Given the description of an element on the screen output the (x, y) to click on. 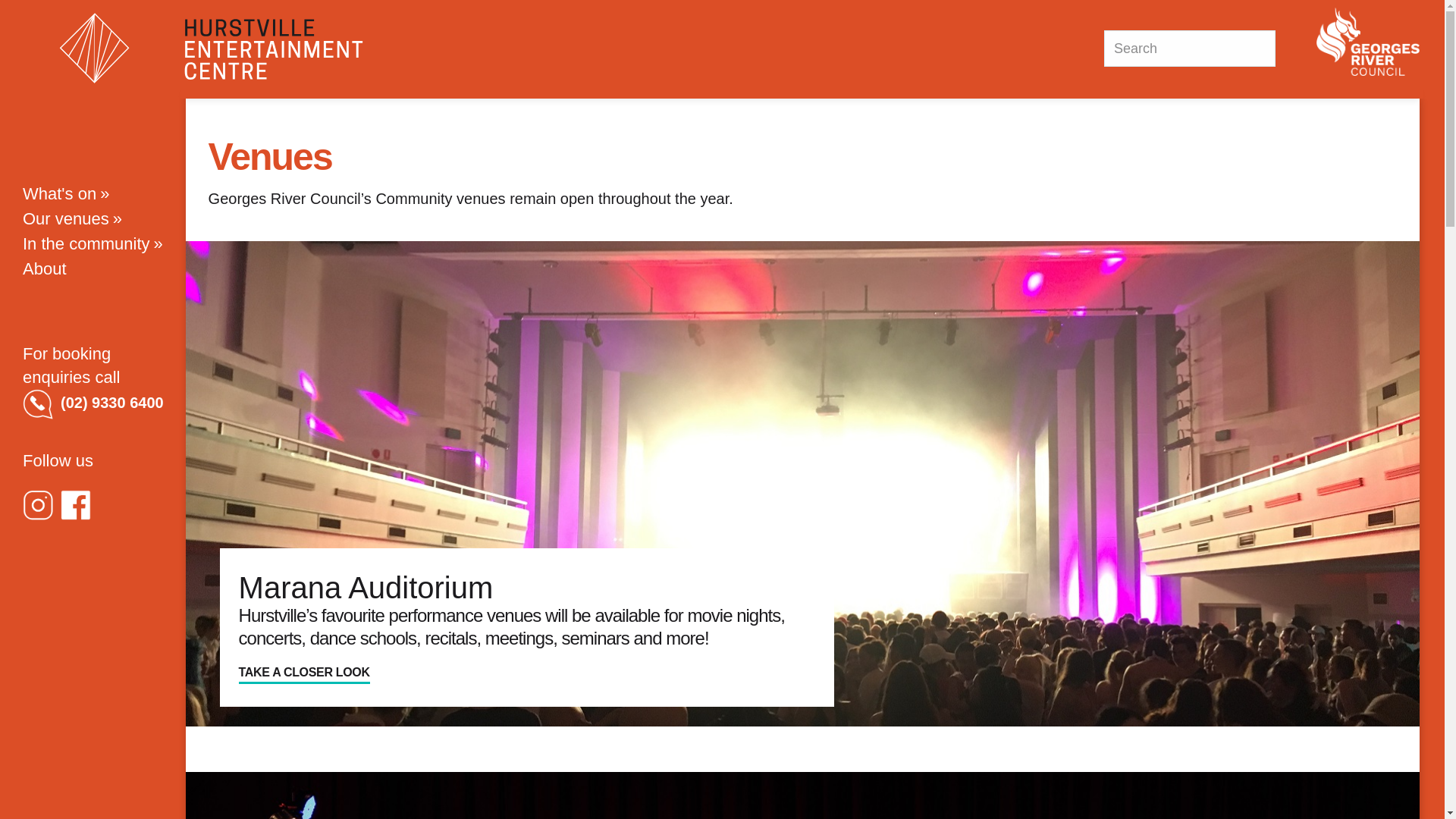
What's on Element type: text (94, 193)
TAKE A CLOSER LOOK Element type: text (304, 672)
In the community Element type: text (94, 243)
Our venues Element type: text (94, 218)
About Element type: text (94, 268)
